Given the description of an element on the screen output the (x, y) to click on. 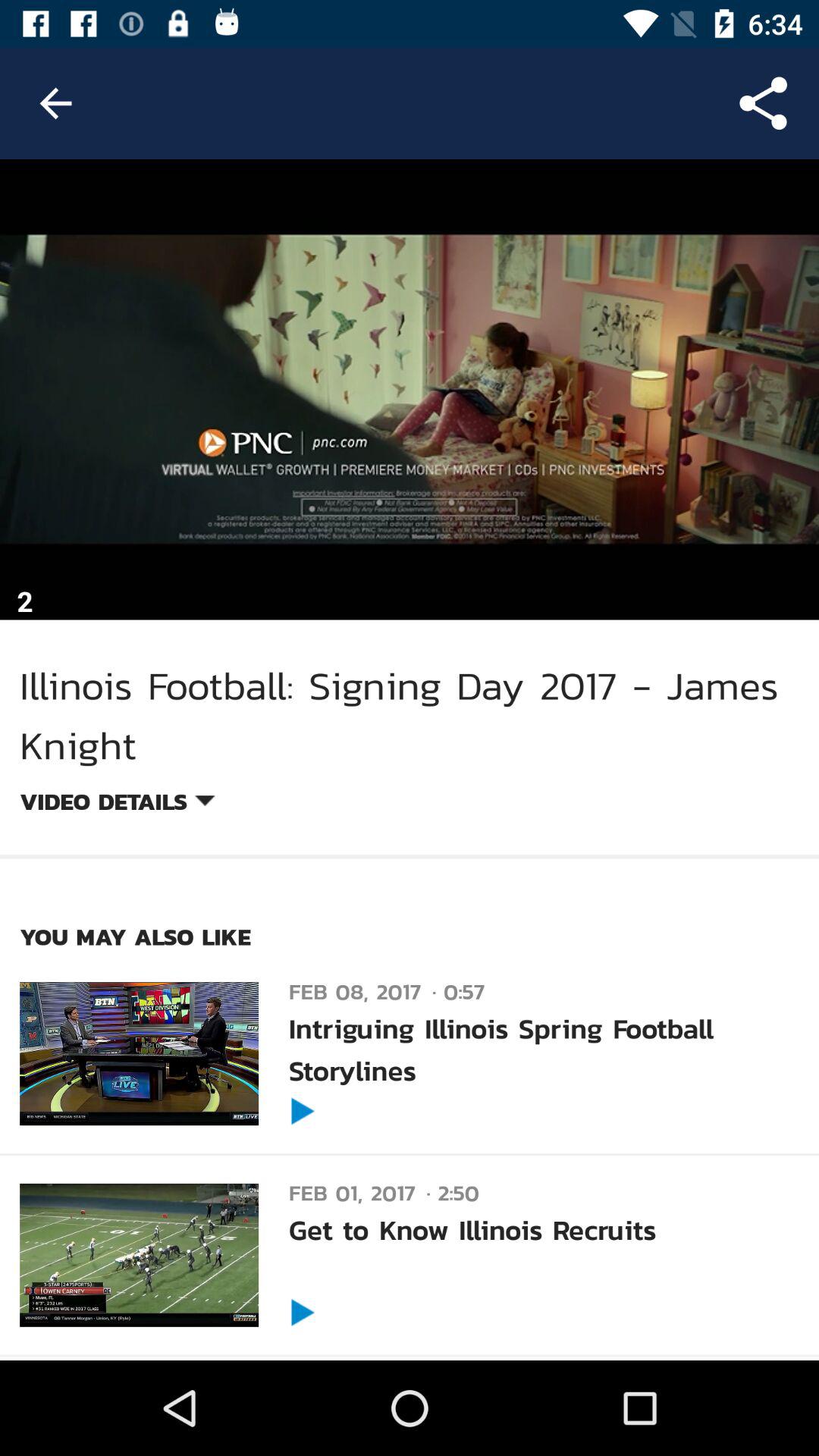
turn on the item on the left (116, 803)
